Given the description of an element on the screen output the (x, y) to click on. 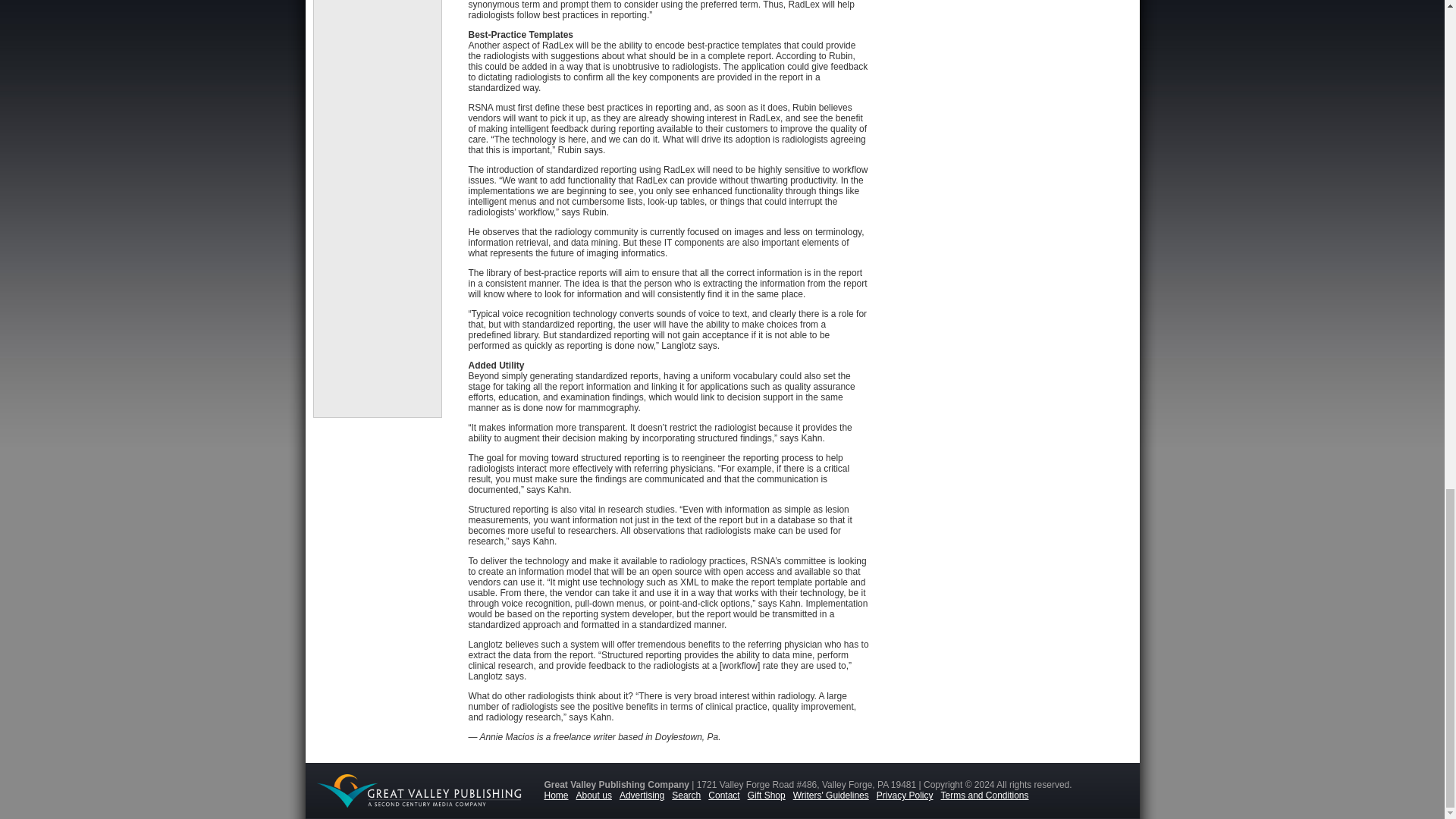
About us (598, 795)
Home (560, 795)
Advertising (645, 795)
